Given the description of an element on the screen output the (x, y) to click on. 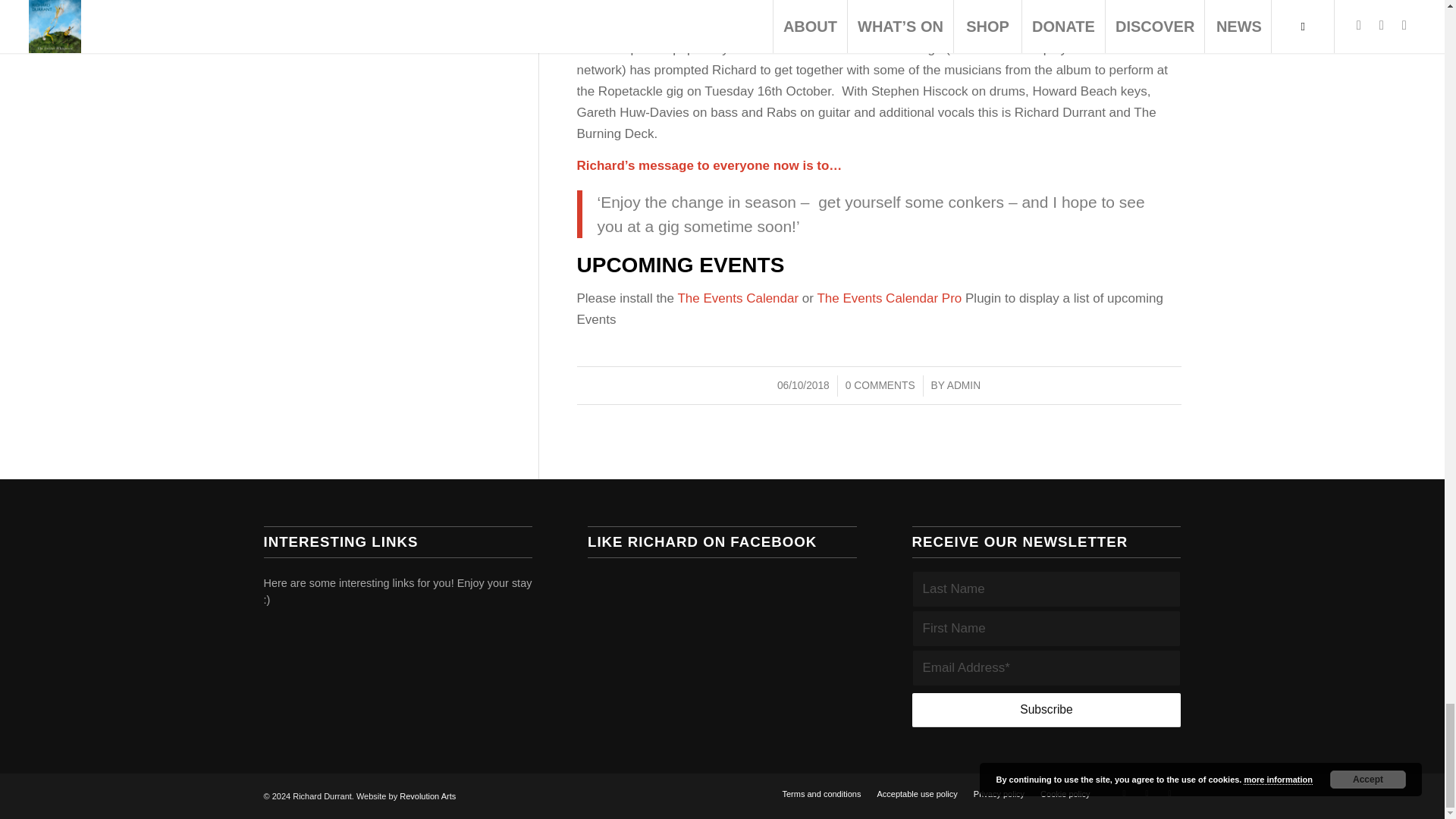
Mail (1124, 793)
ADMIN (963, 385)
Facebook (1146, 793)
Subscribe (1046, 709)
Youtube (1169, 793)
The Events Calendar (737, 298)
The Events Calendar Pro (888, 298)
0 COMMENTS (880, 385)
Posts by admin (963, 385)
